Given the description of an element on the screen output the (x, y) to click on. 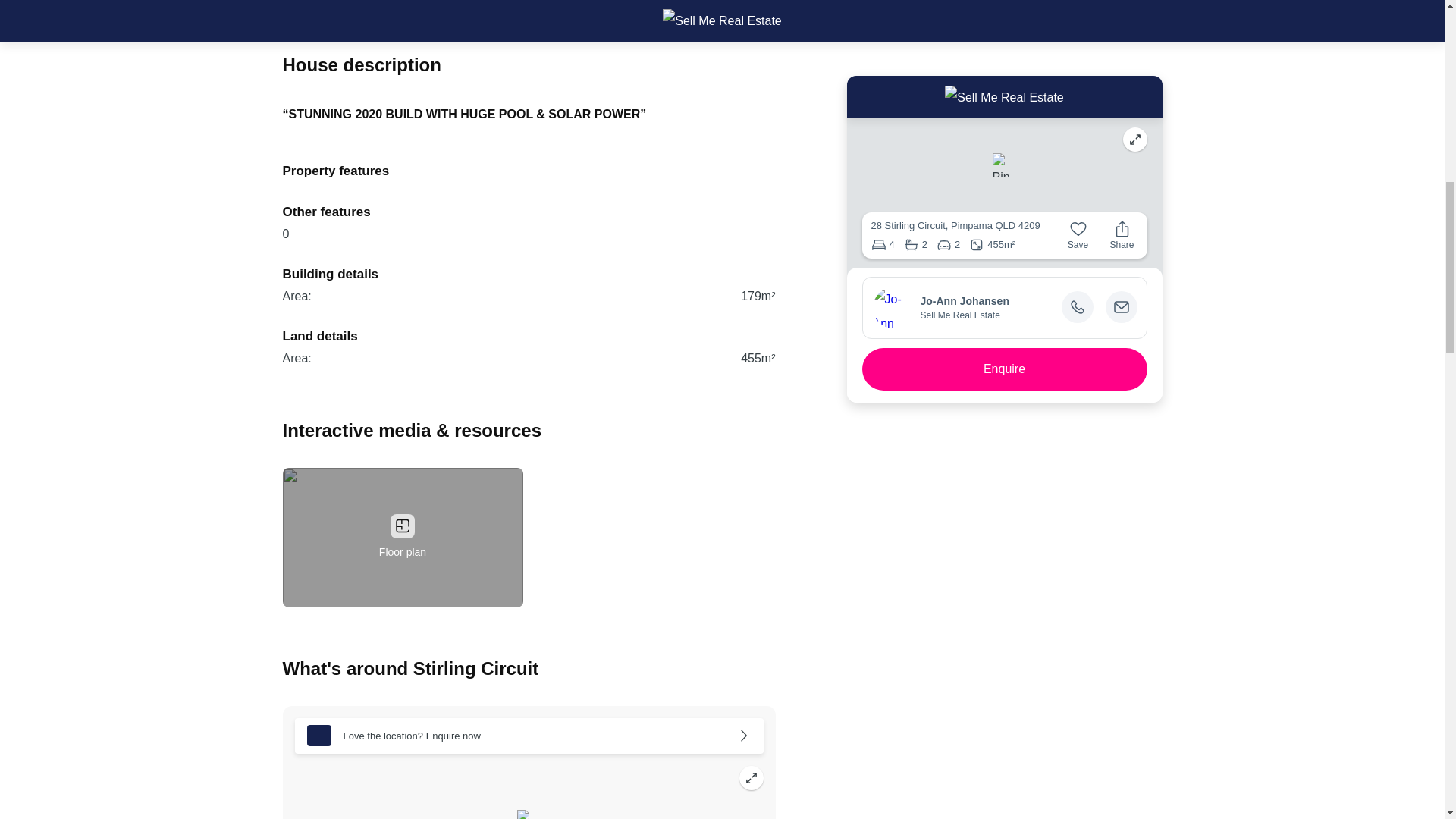
Floor plan (402, 537)
How much is your home worth? (387, 2)
